Given the description of an element on the screen output the (x, y) to click on. 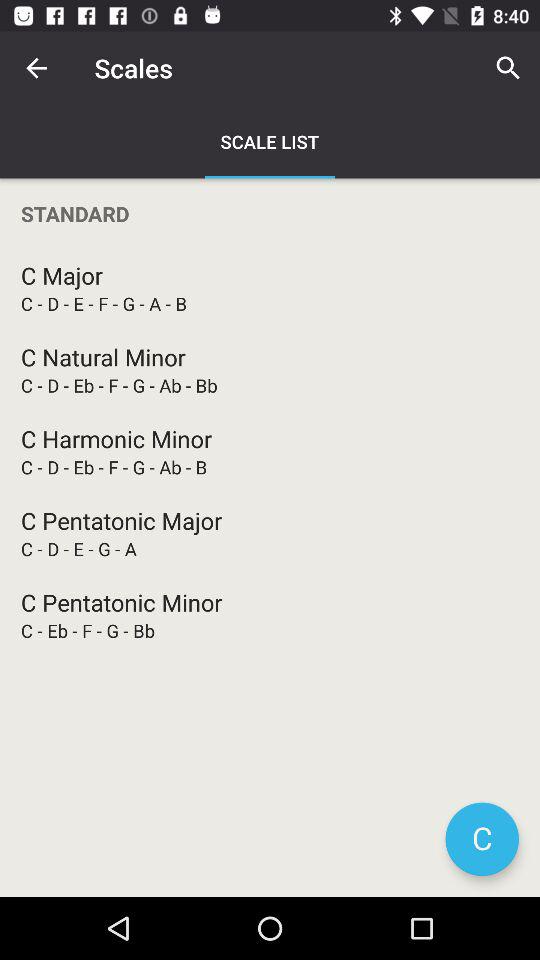
launch the item to the right of scales item (508, 67)
